Given the description of an element on the screen output the (x, y) to click on. 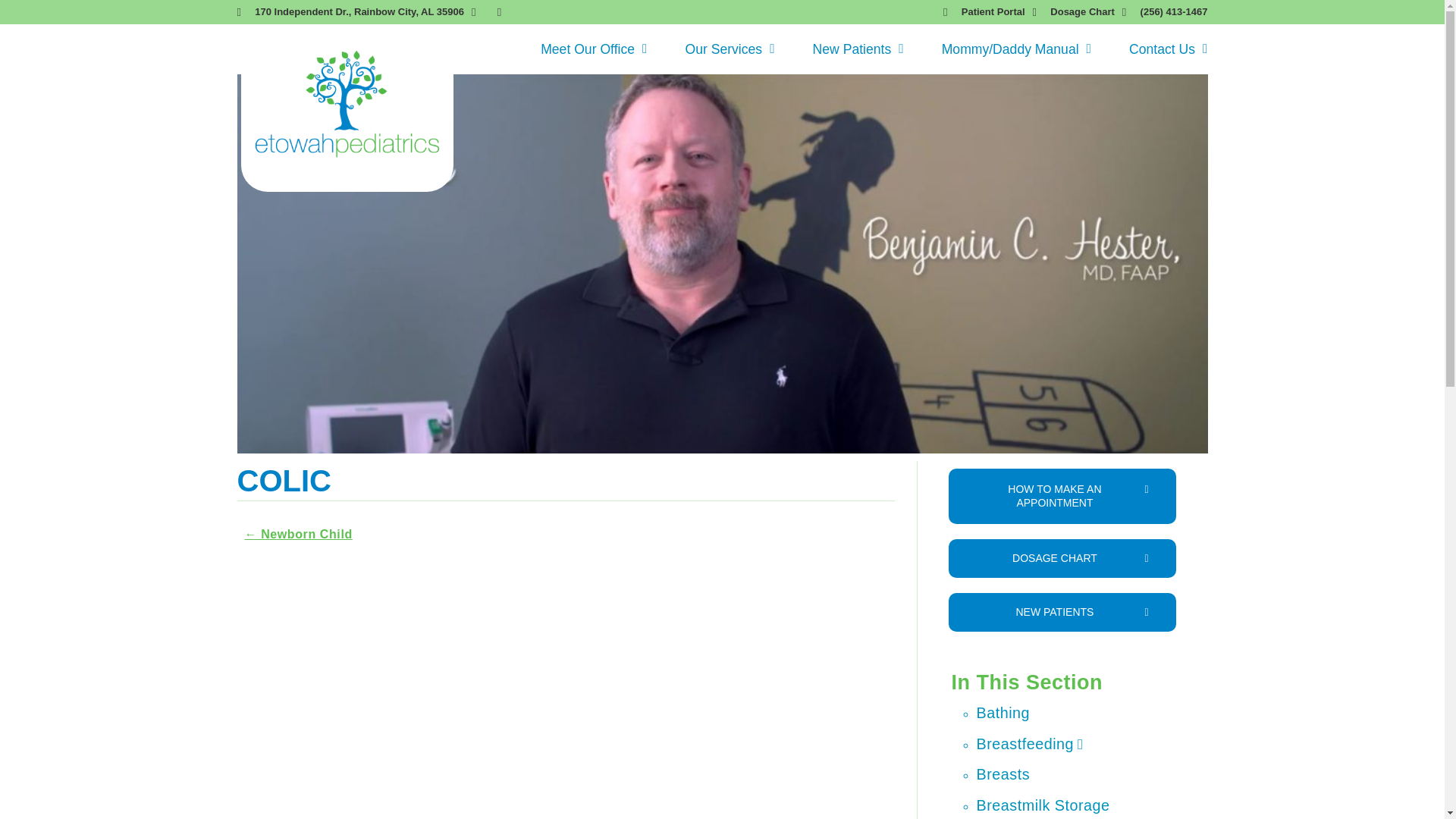
Breastfeeding (1029, 743)
170 Independent Dr., Rainbow City, AL 35906 (349, 12)
Dosage Chart (1073, 12)
Bathing (1003, 712)
Breasts (1003, 773)
Breastmilk Storage (1042, 805)
Patient Portal (984, 12)
